Given the description of an element on the screen output the (x, y) to click on. 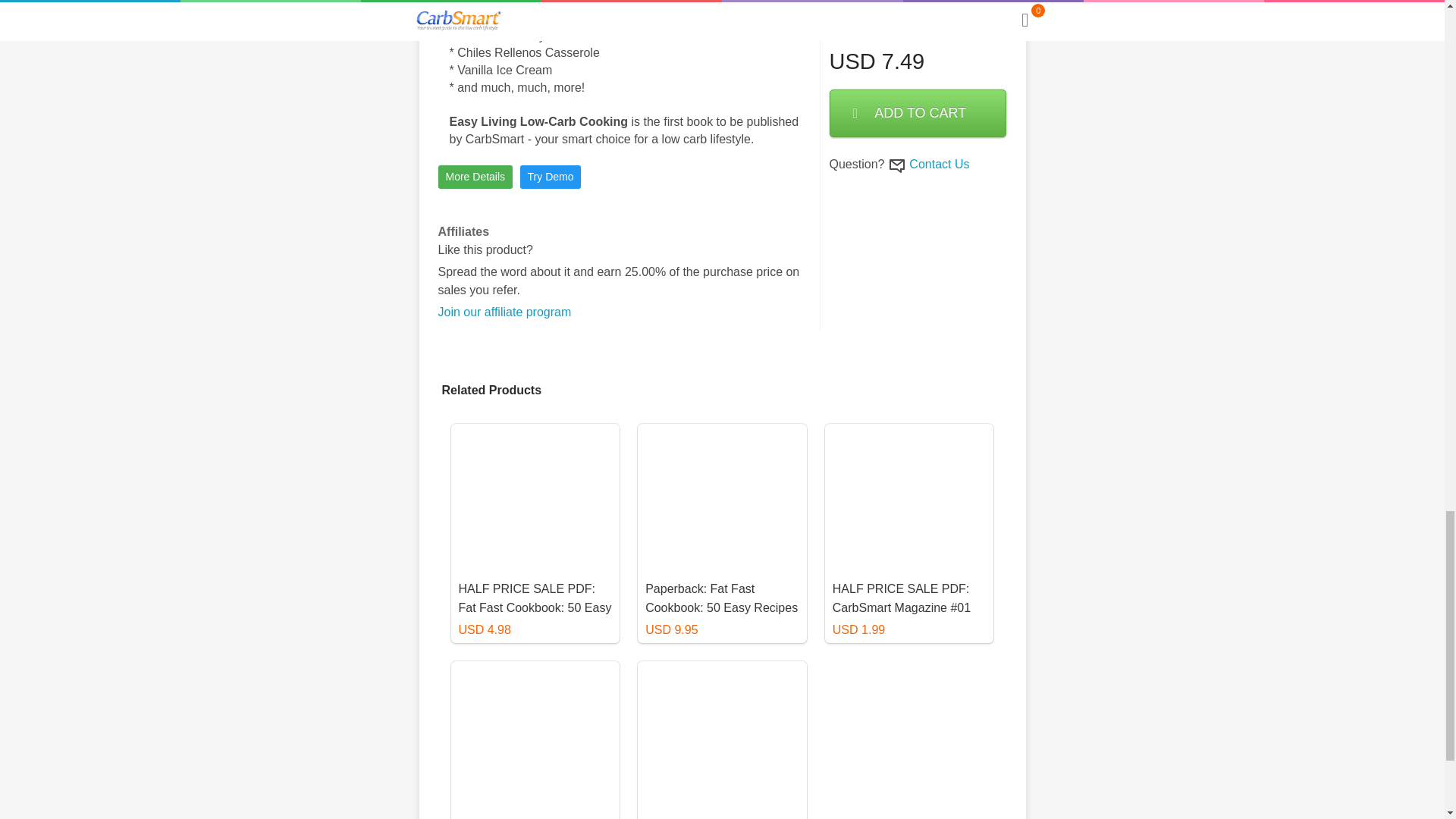
More Details (475, 177)
Try Demo (549, 177)
Join our affiliate program (505, 311)
